Given the description of an element on the screen output the (x, y) to click on. 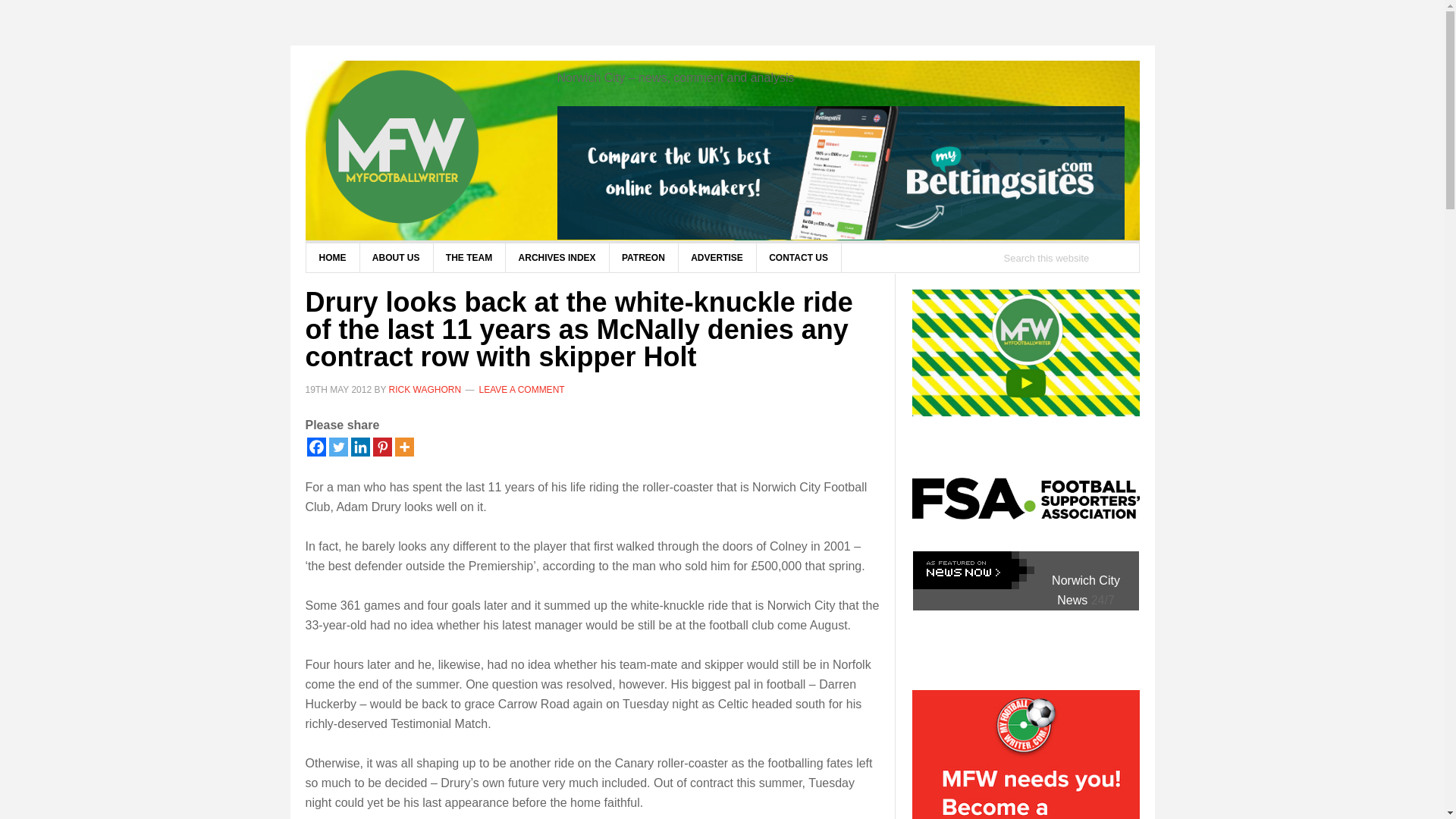
ARCHIVES INDEX (557, 257)
More (403, 446)
Linkedin (359, 446)
CONTACT US (798, 257)
ABOUT US (396, 257)
ADVERTISE (717, 257)
THE TEAM (468, 257)
HOME (332, 257)
